Given the description of an element on the screen output the (x, y) to click on. 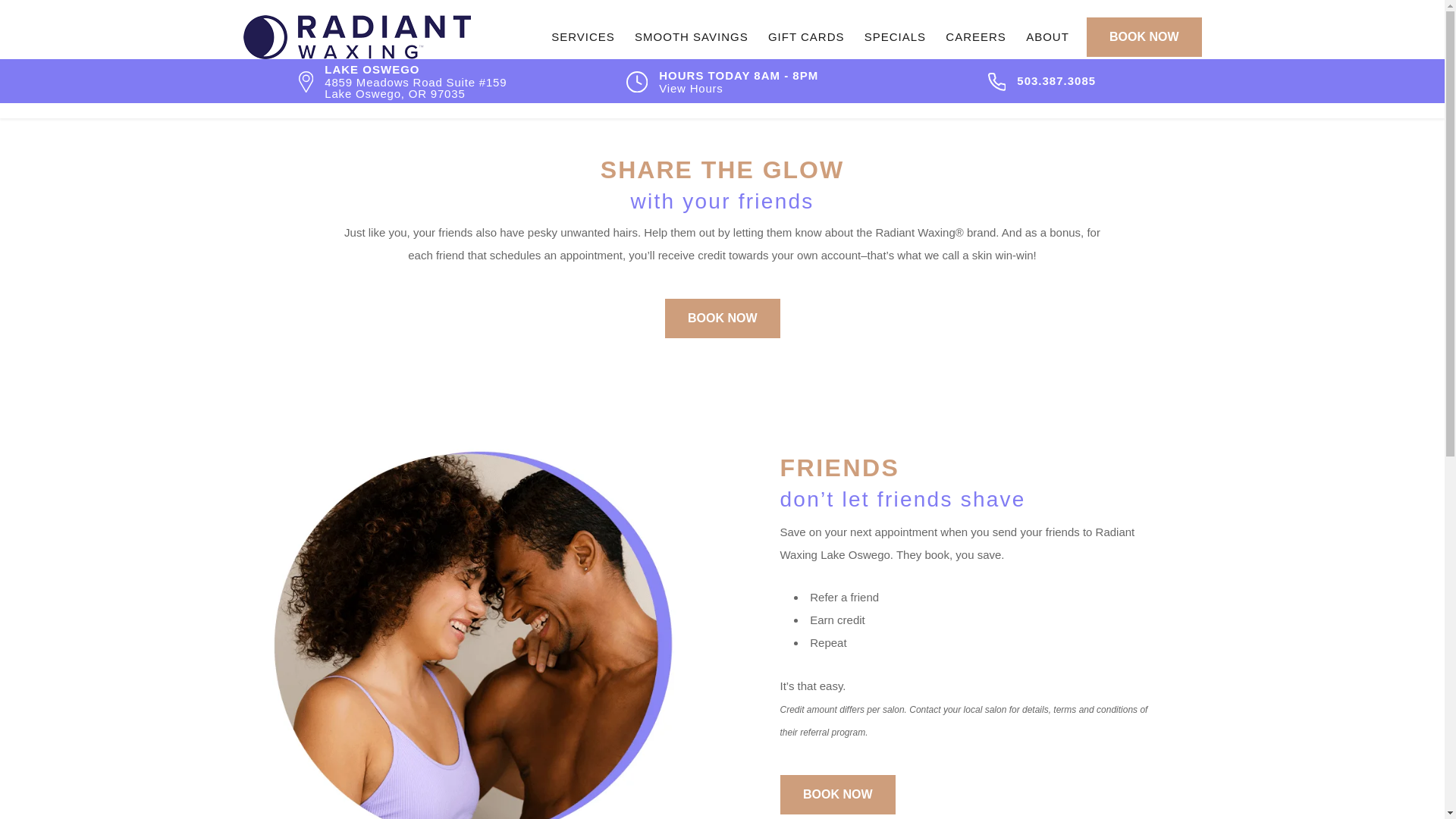
SPECIALS (895, 36)
SERVICES (582, 36)
ABOUT (1047, 36)
BOOK NOW (1144, 36)
SMOOTH SAVINGS (691, 36)
CAREERS (976, 36)
GIFT CARDS (806, 36)
